Given the description of an element on the screen output the (x, y) to click on. 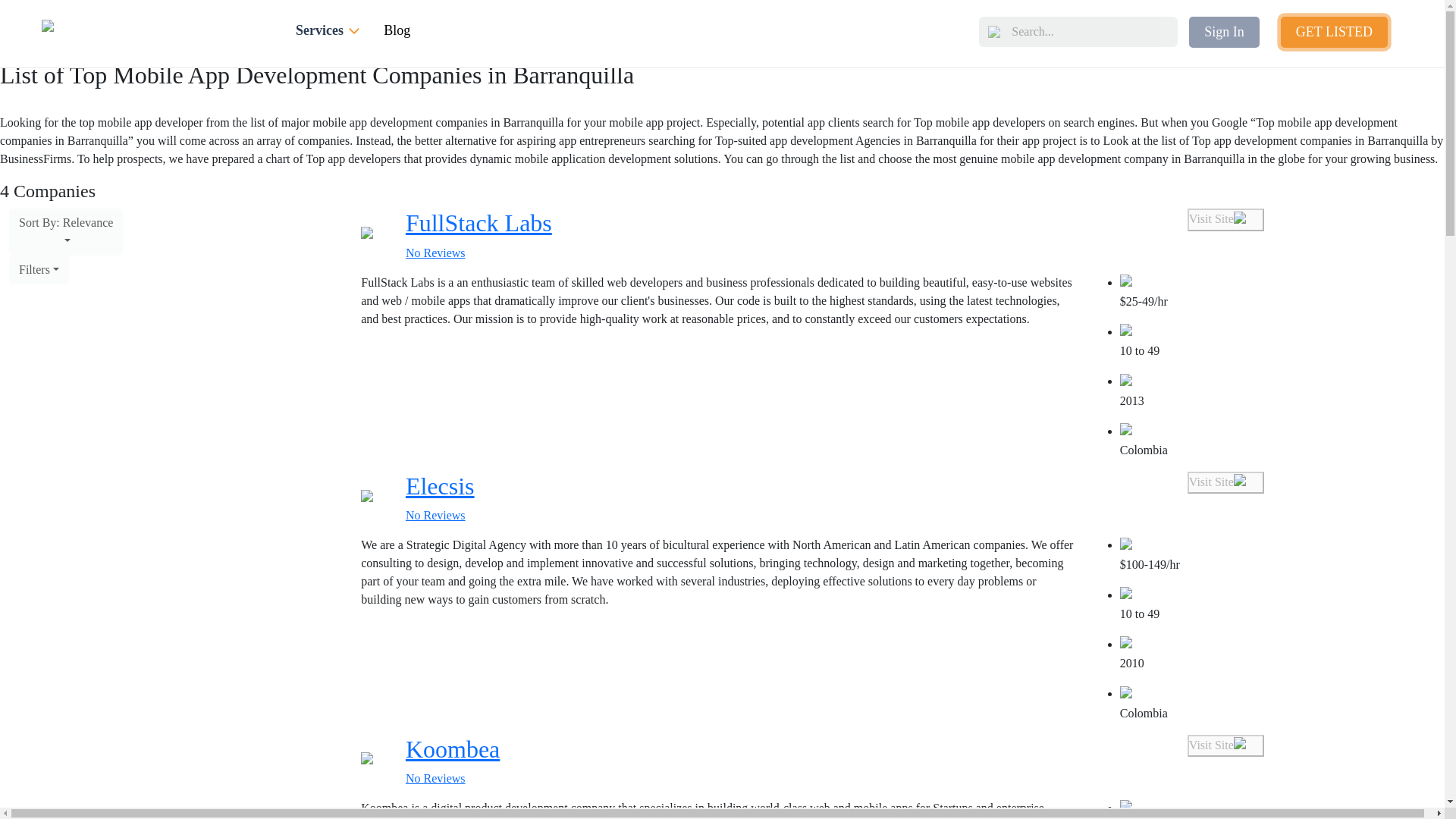
Sort By: Relevance (65, 231)
Sign In (1224, 31)
Home (38, 11)
Blog (397, 29)
Services (330, 31)
Sign In (1232, 31)
GET LISTED (1334, 31)
Mobile App Development (87, 29)
GET LISTED (1342, 31)
